Given the description of an element on the screen output the (x, y) to click on. 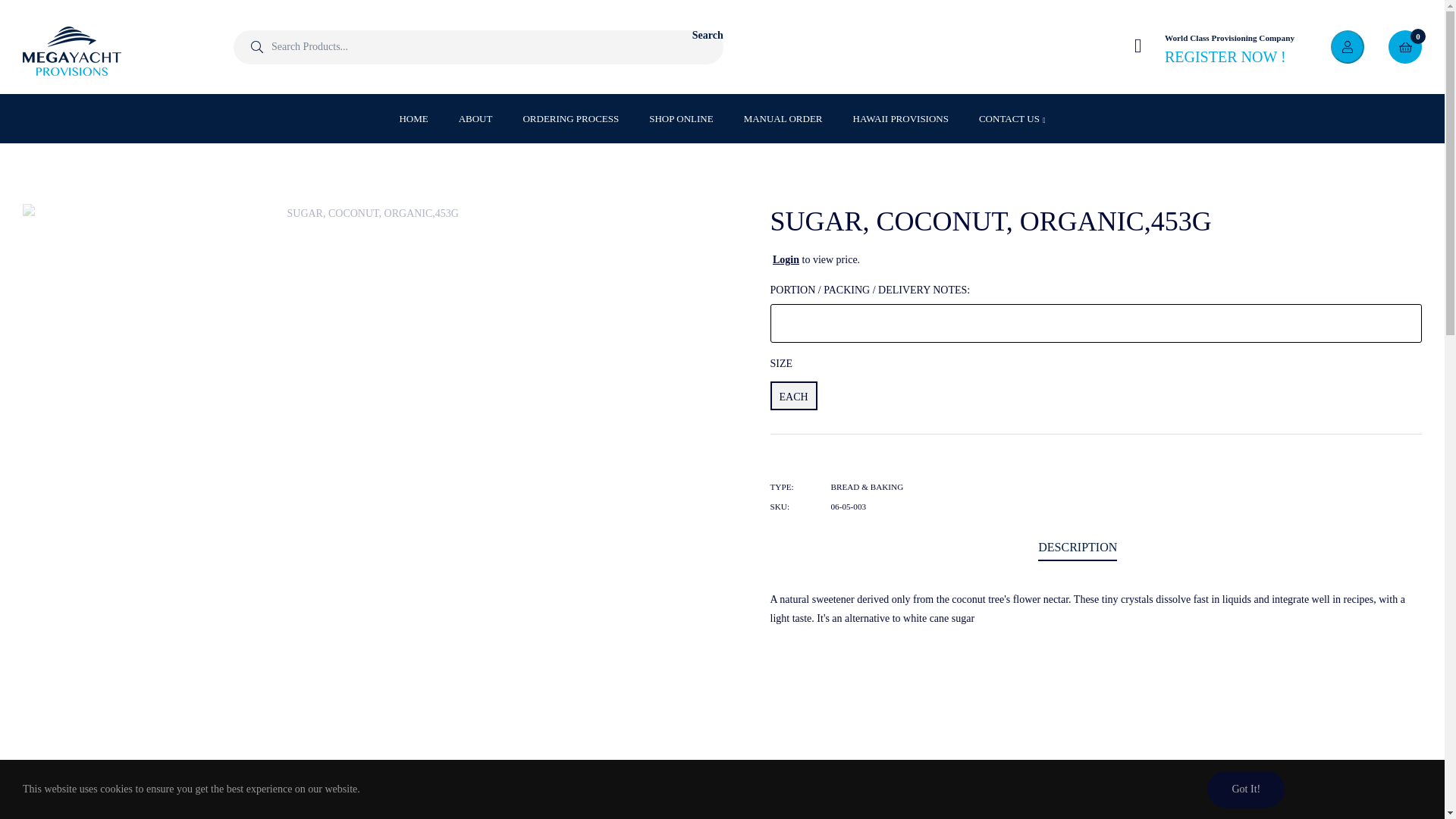
CONTACT US (1012, 118)
HAWAII PROVISIONS (900, 118)
SHOP ONLINE (680, 118)
Login (786, 259)
DESCRIPTION (1077, 547)
HOME (413, 118)
MANUAL ORDER (783, 118)
REGISTER NOW ! (1229, 64)
ORDERING PROCESS (569, 118)
